Given the description of an element on the screen output the (x, y) to click on. 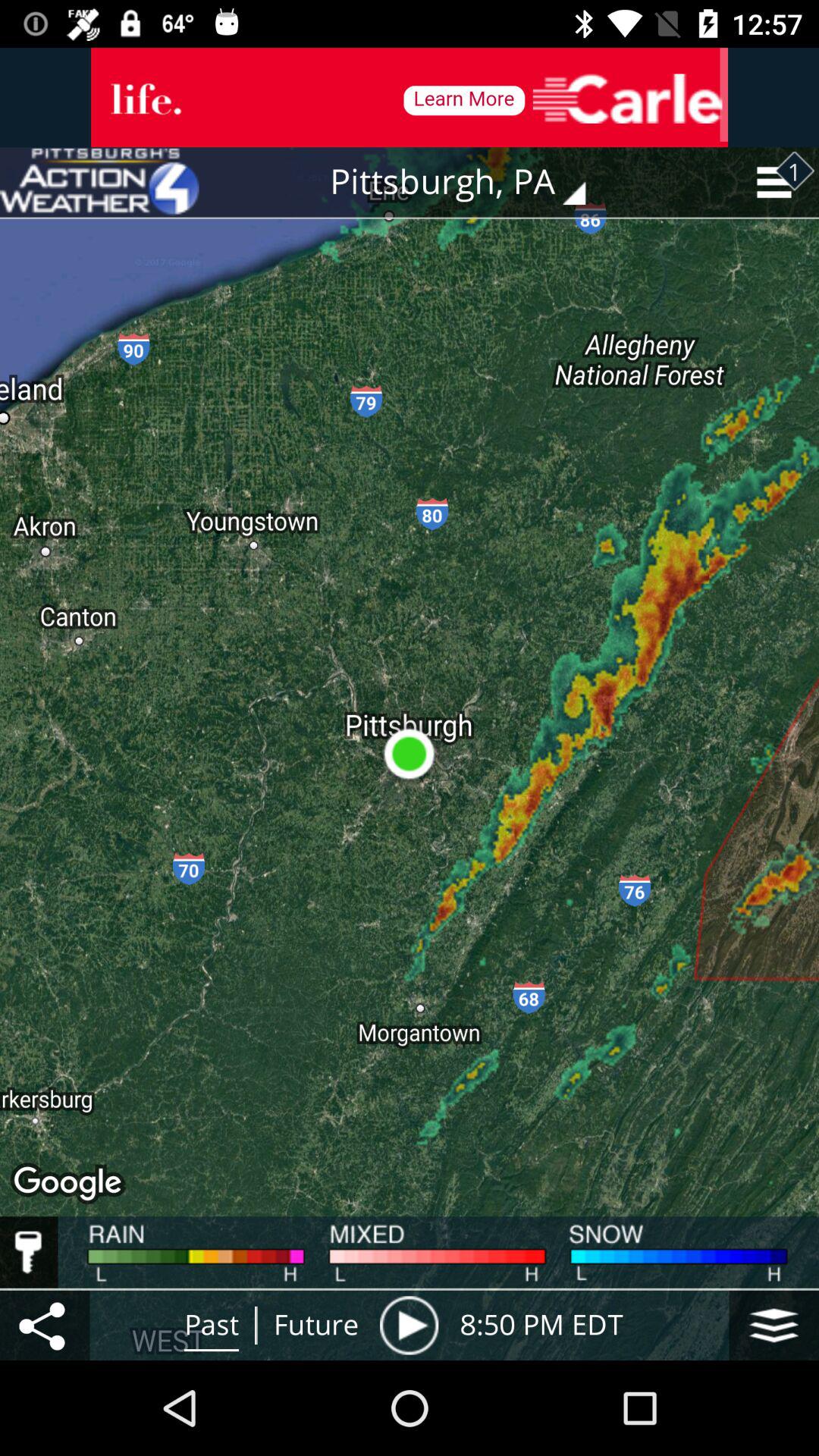
select icon to the left of the 8 50 pm icon (409, 1325)
